Given the description of an element on the screen output the (x, y) to click on. 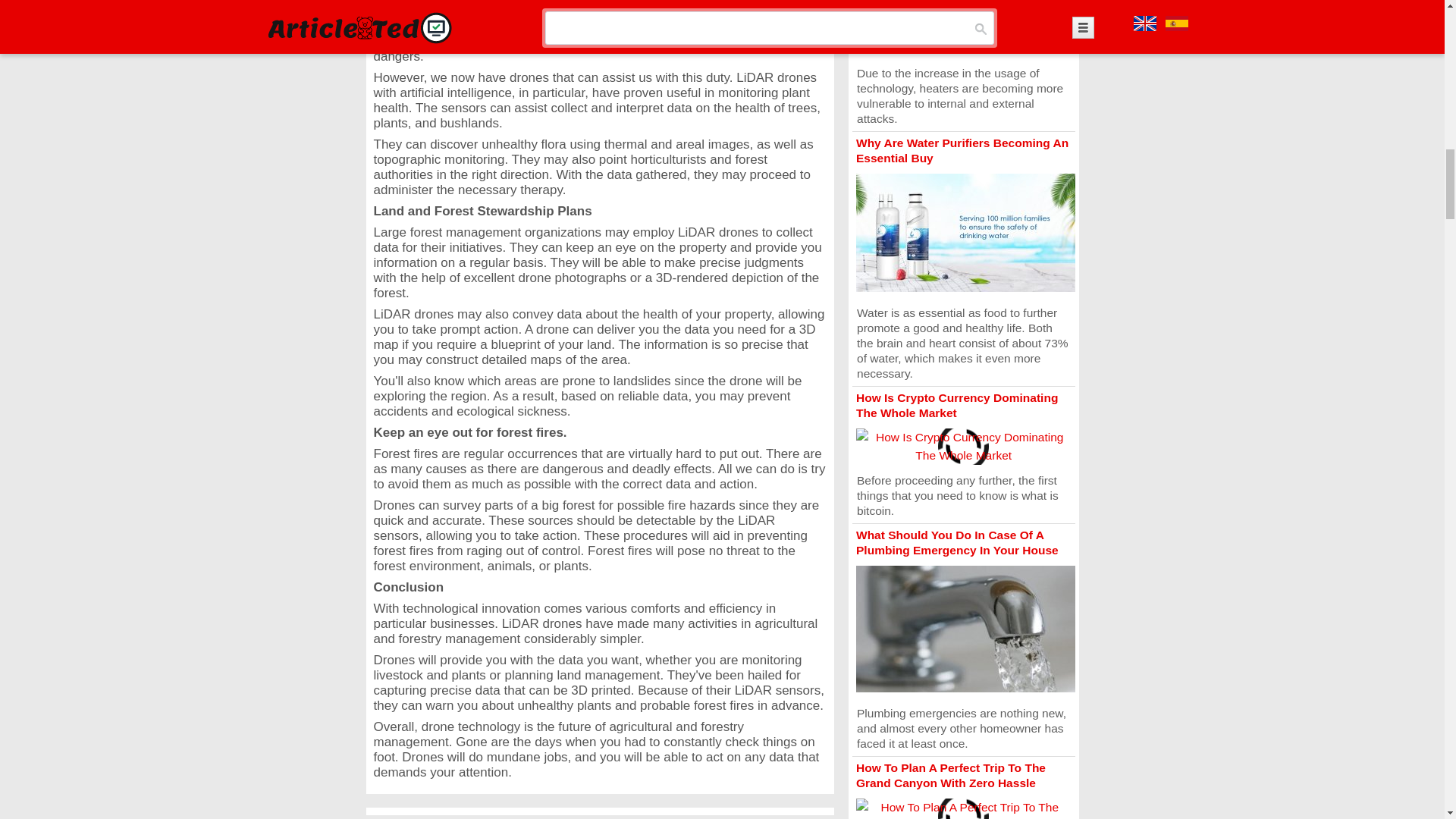
How Is Crypto Currency Dominating The Whole Market (957, 405)
Why Are Water Purifiers Becoming An Essential Buy (962, 150)
